Given the description of an element on the screen output the (x, y) to click on. 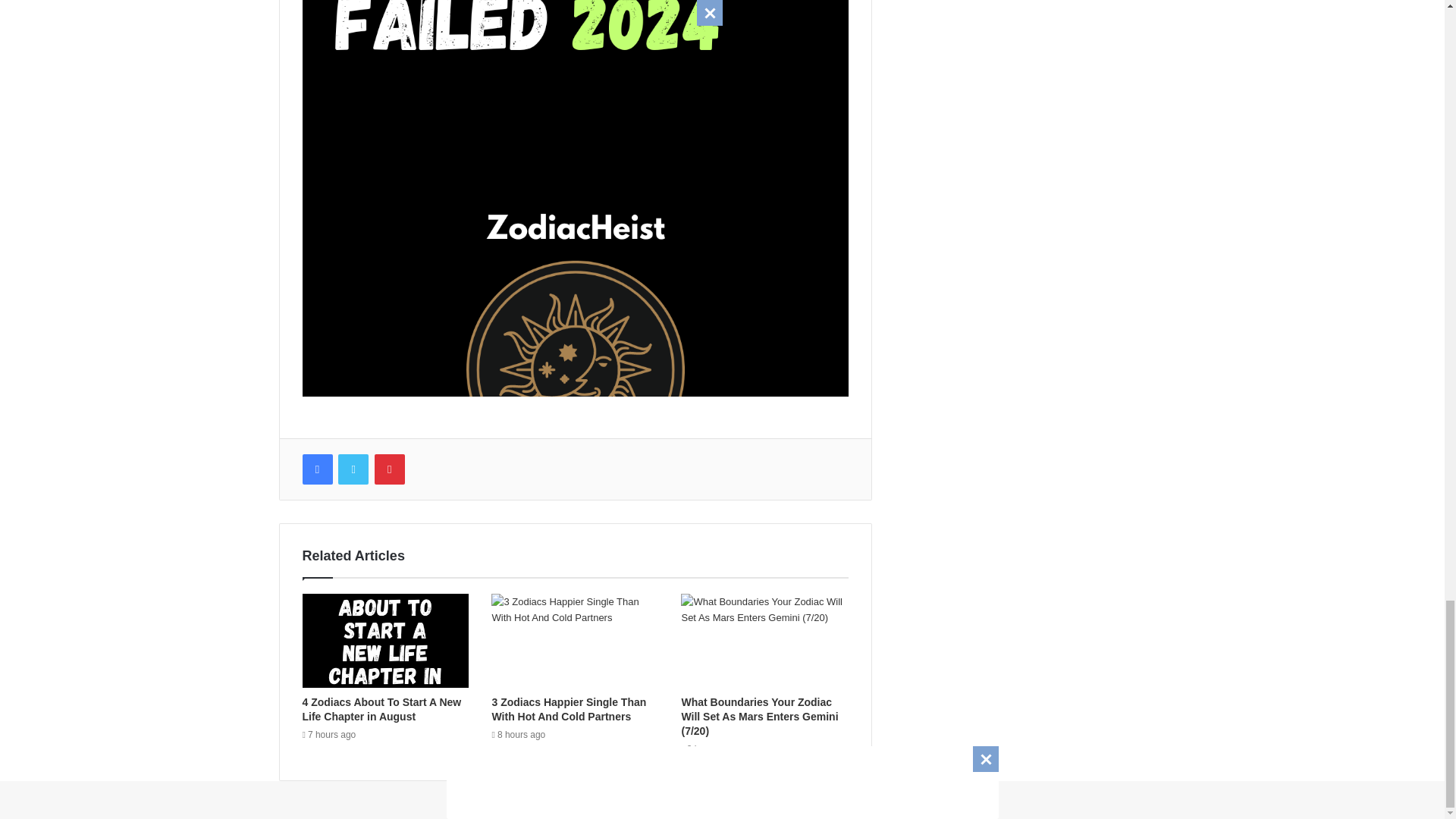
4 Zodiacs About To Start A New Life Chapter in August (381, 709)
3 Zodiacs Happier Single Than With Hot And Cold Partners (569, 709)
Twitter (352, 469)
Facebook (316, 469)
Pinterest (389, 469)
Pinterest (389, 469)
Facebook (316, 469)
Twitter (352, 469)
